Given the description of an element on the screen output the (x, y) to click on. 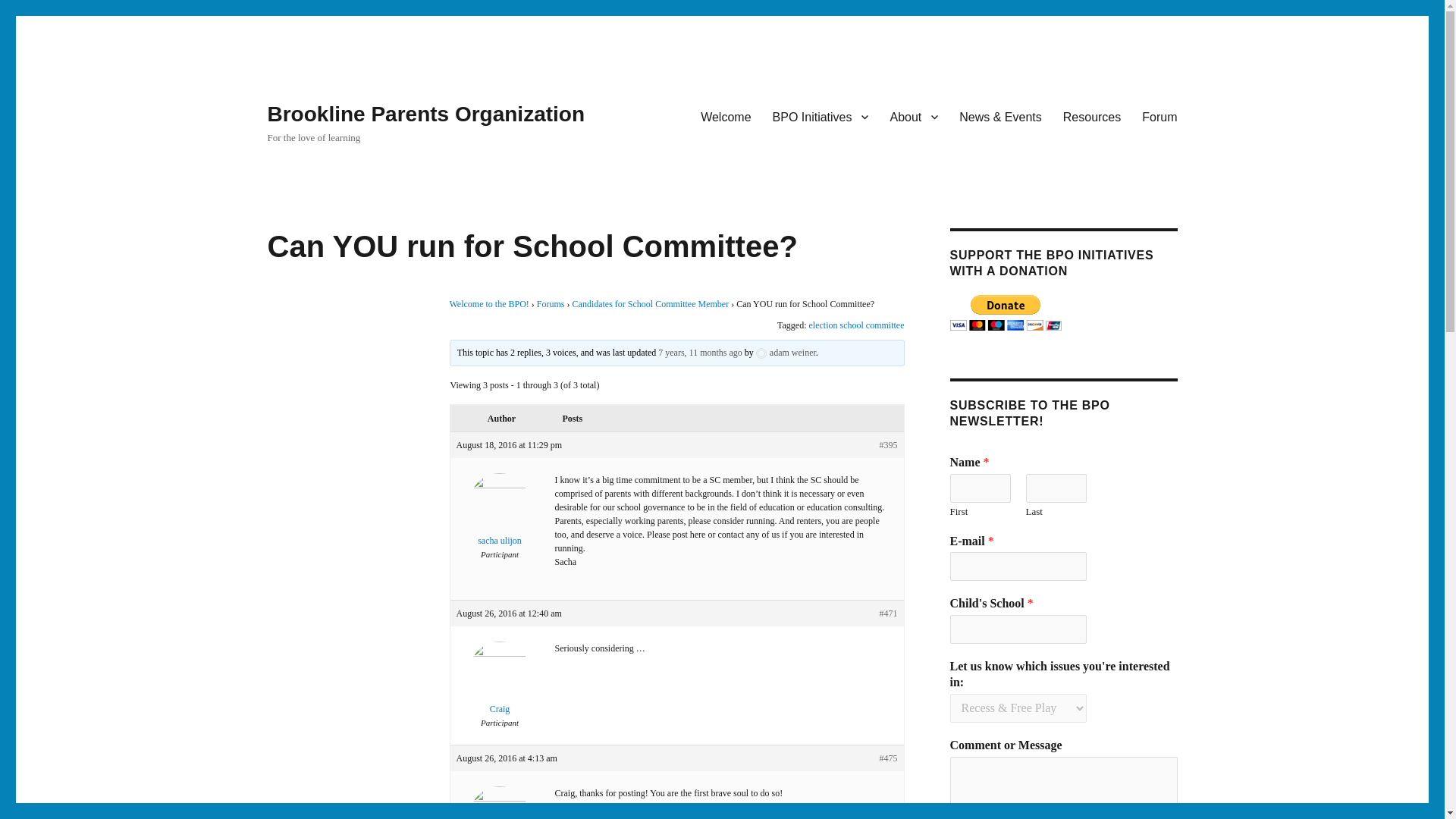
View adam weiner's profile (500, 812)
Candidates for School Committee Member (650, 303)
adam weiner (500, 812)
View Craig's profile (500, 687)
adam weiner (785, 352)
BPO Initiatives (820, 116)
Welcome (725, 116)
sacha ulijon (500, 520)
Welcome to the BPO! (488, 303)
About (914, 116)
